Given the description of an element on the screen output the (x, y) to click on. 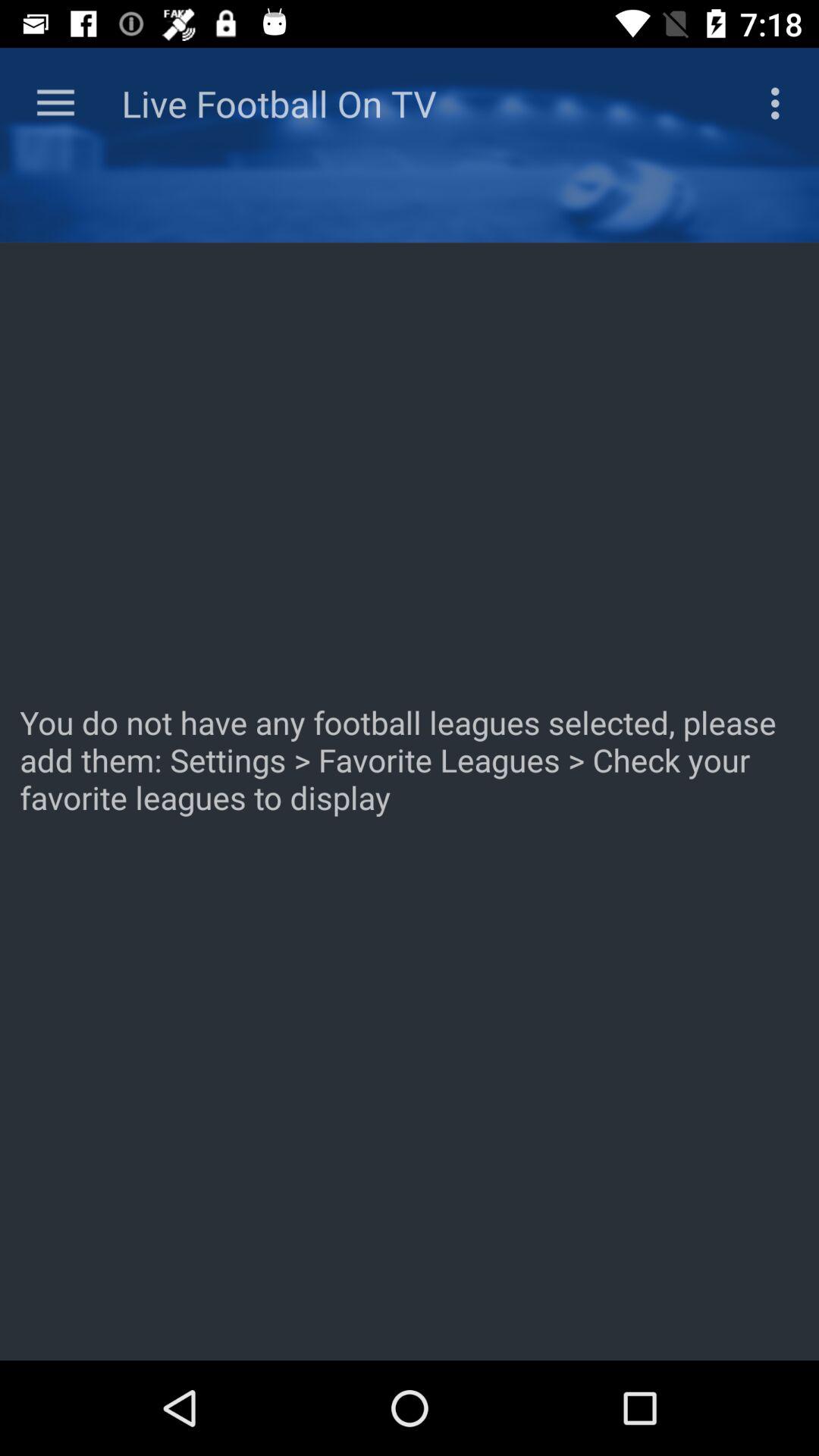
press icon at the top left corner (55, 103)
